Given the description of an element on the screen output the (x, y) to click on. 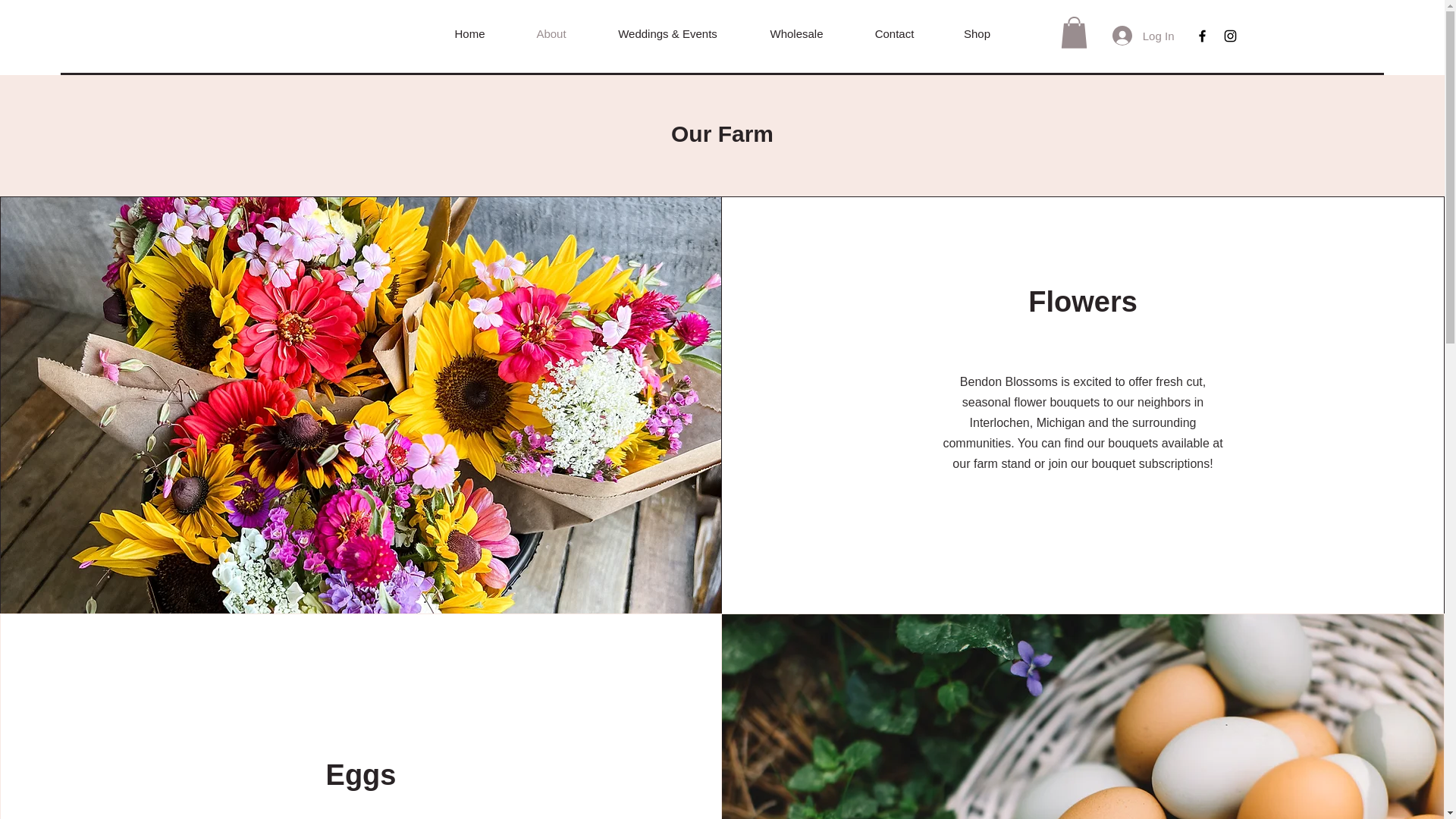
Log In (1143, 35)
Wholesale (795, 33)
Home (470, 33)
Shop (976, 33)
About (551, 33)
Contact (893, 33)
